Given the description of an element on the screen output the (x, y) to click on. 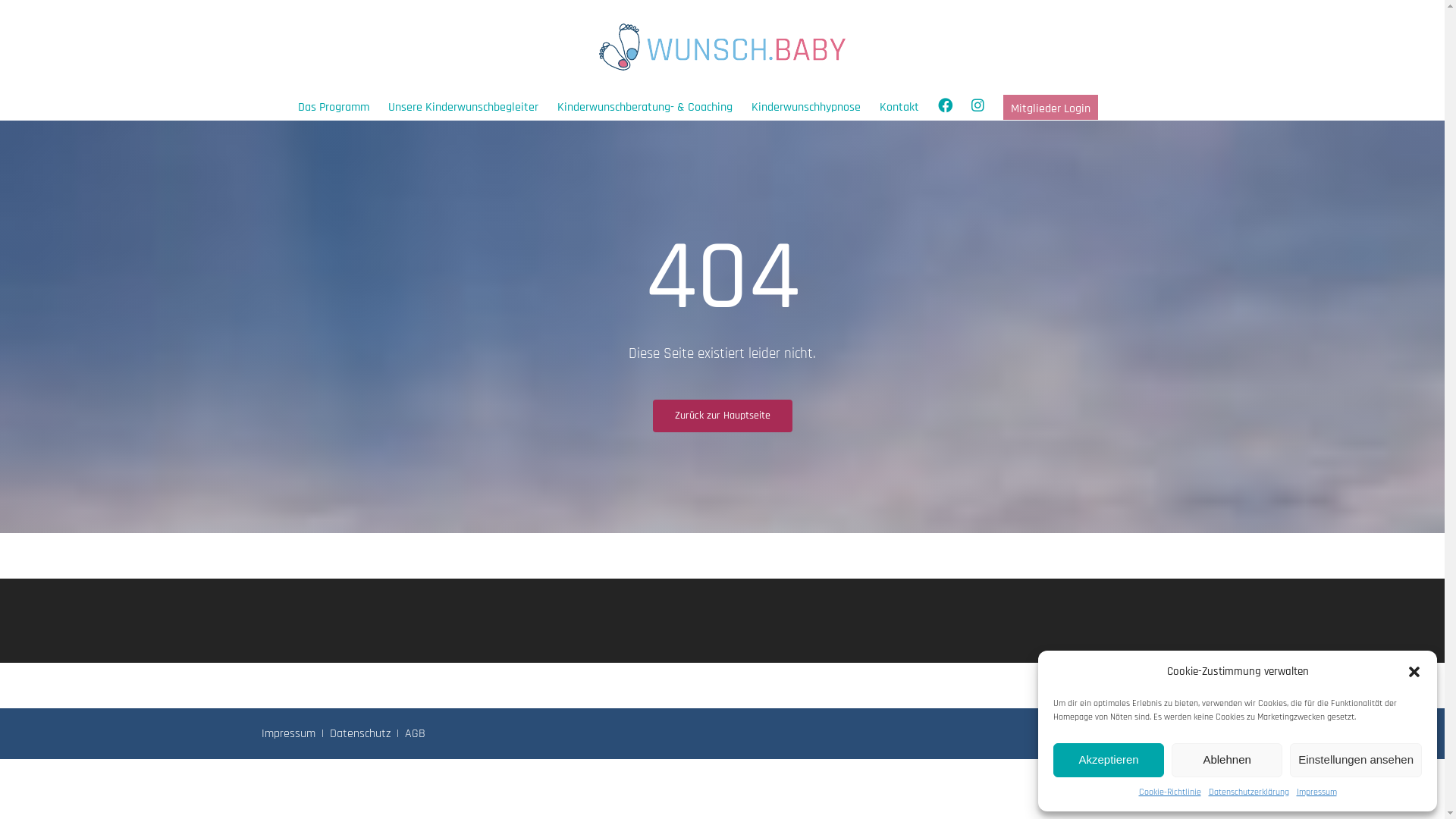
Impressum Element type: text (1316, 792)
Impressum Element type: text (288, 733)
Datenschutz Element type: text (359, 733)
Kinderwunschberatung- & Coaching Element type: text (643, 106)
Unsere Kinderwunschbegleiter Element type: text (463, 106)
Instagram Element type: text (976, 106)
Kinderwunschhypnose Element type: text (804, 106)
Cookie-Richtlinie Element type: text (1170, 792)
Mitglieder Login Element type: text (1049, 106)
Kontakt Element type: text (899, 106)
Einstellungen ansehen Element type: text (1355, 760)
Akzeptieren Element type: text (1108, 760)
AGB Element type: text (414, 733)
Facebook Element type: text (944, 106)
Ablehnen Element type: text (1226, 760)
Das Programm Element type: text (332, 106)
